Given the description of an element on the screen output the (x, y) to click on. 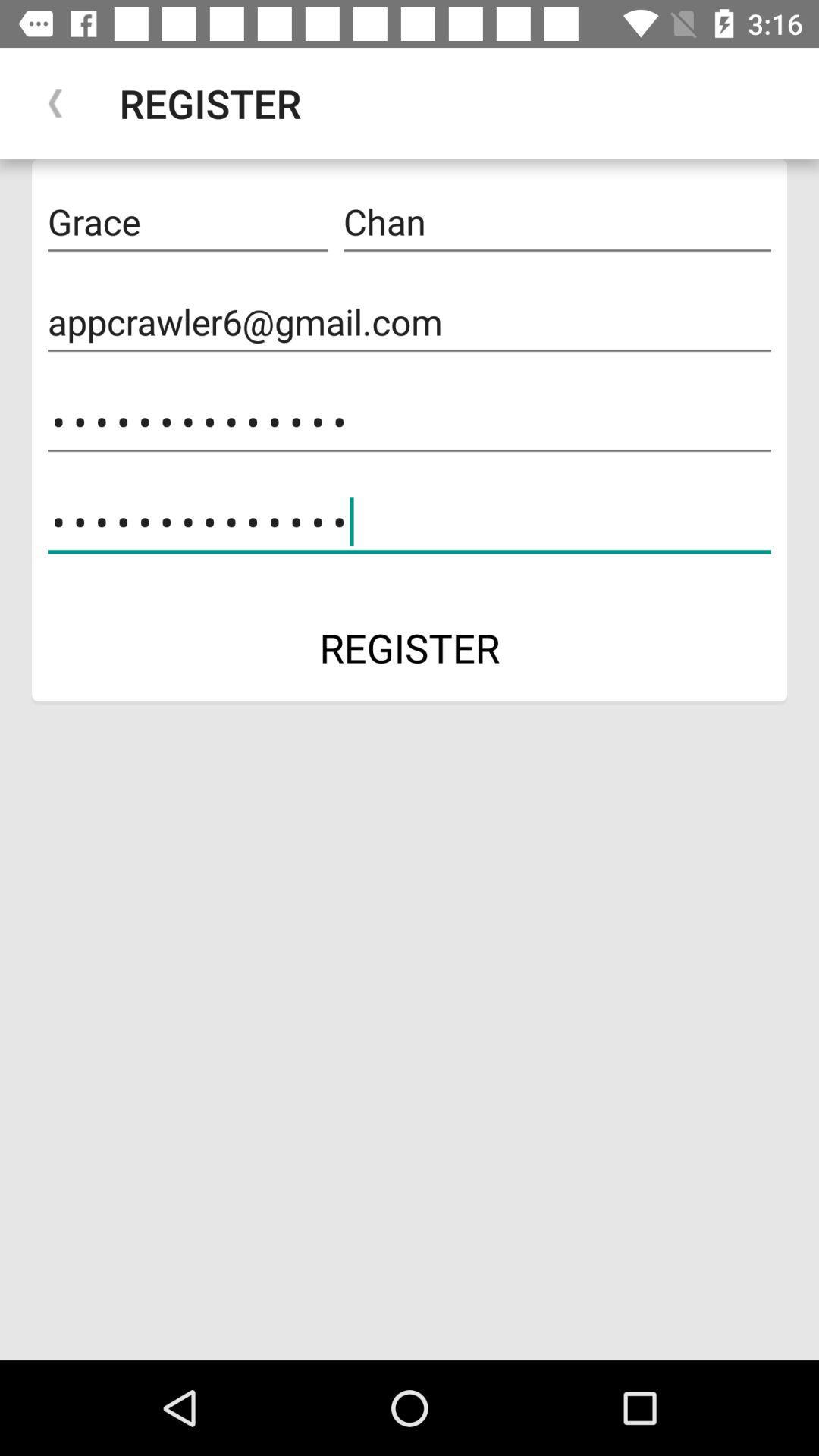
click the icon above appcrawler6@gmail.com item (557, 222)
